Given the description of an element on the screen output the (x, y) to click on. 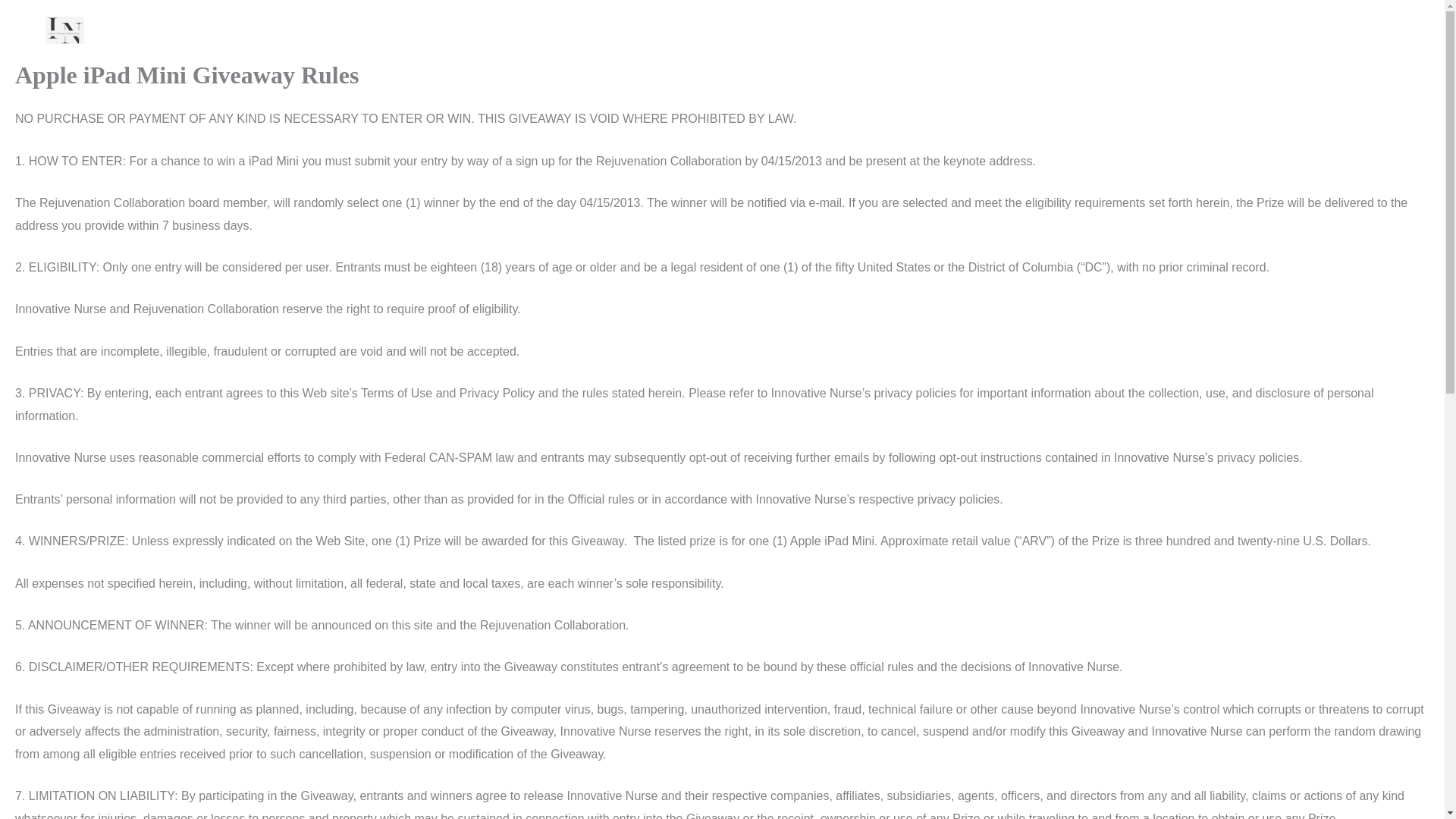
About (1304, 30)
Innovative Nurse (157, 29)
Content (1235, 30)
Home (1166, 30)
Contact (1366, 30)
